Given the description of an element on the screen output the (x, y) to click on. 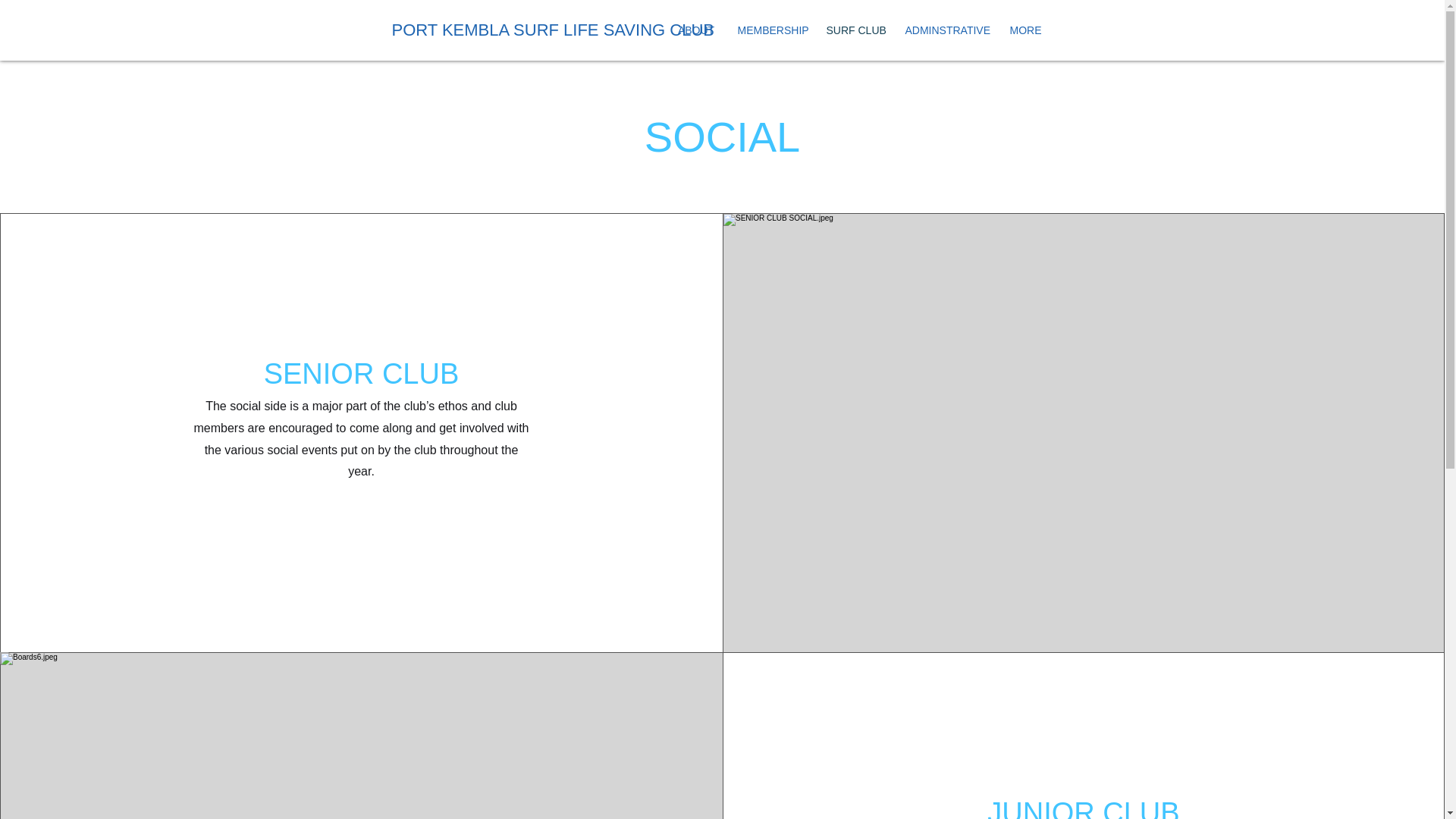
SURF CLUB (853, 29)
ADMINSTRATIVE (945, 29)
MEMBERSHIP (770, 29)
PORT KEMBLA SURF LIFE SAVING CLUB (607, 30)
ABOUT (695, 29)
